Given the description of an element on the screen output the (x, y) to click on. 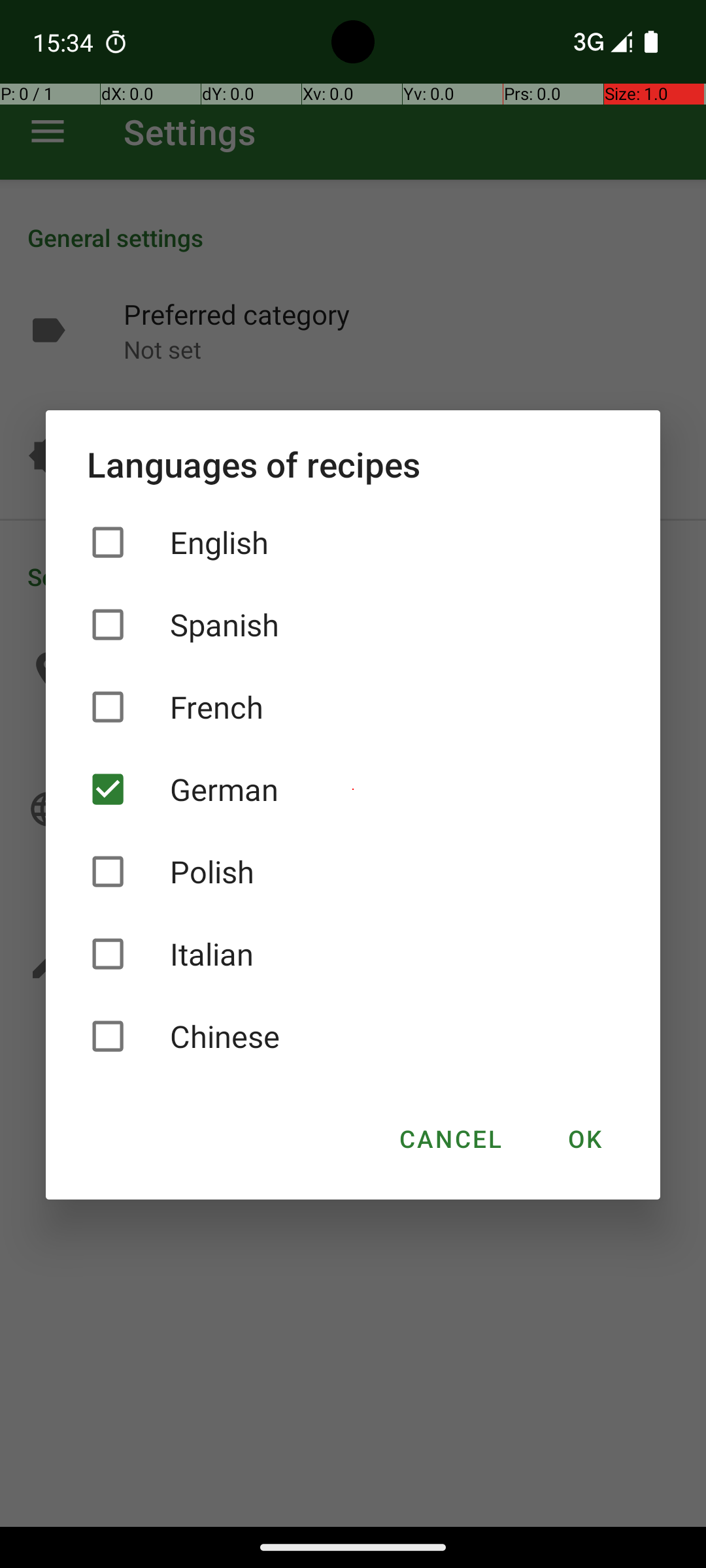
Languages of recipes Element type: android.widget.TextView (352, 464)
Spanish Element type: android.widget.CheckedTextView (352, 624)
French Element type: android.widget.CheckedTextView (352, 706)
German Element type: android.widget.CheckedTextView (352, 789)
Polish Element type: android.widget.CheckedTextView (352, 871)
Italian Element type: android.widget.CheckedTextView (352, 953)
Chinese Element type: android.widget.CheckedTextView (352, 1036)
